Given the description of an element on the screen output the (x, y) to click on. 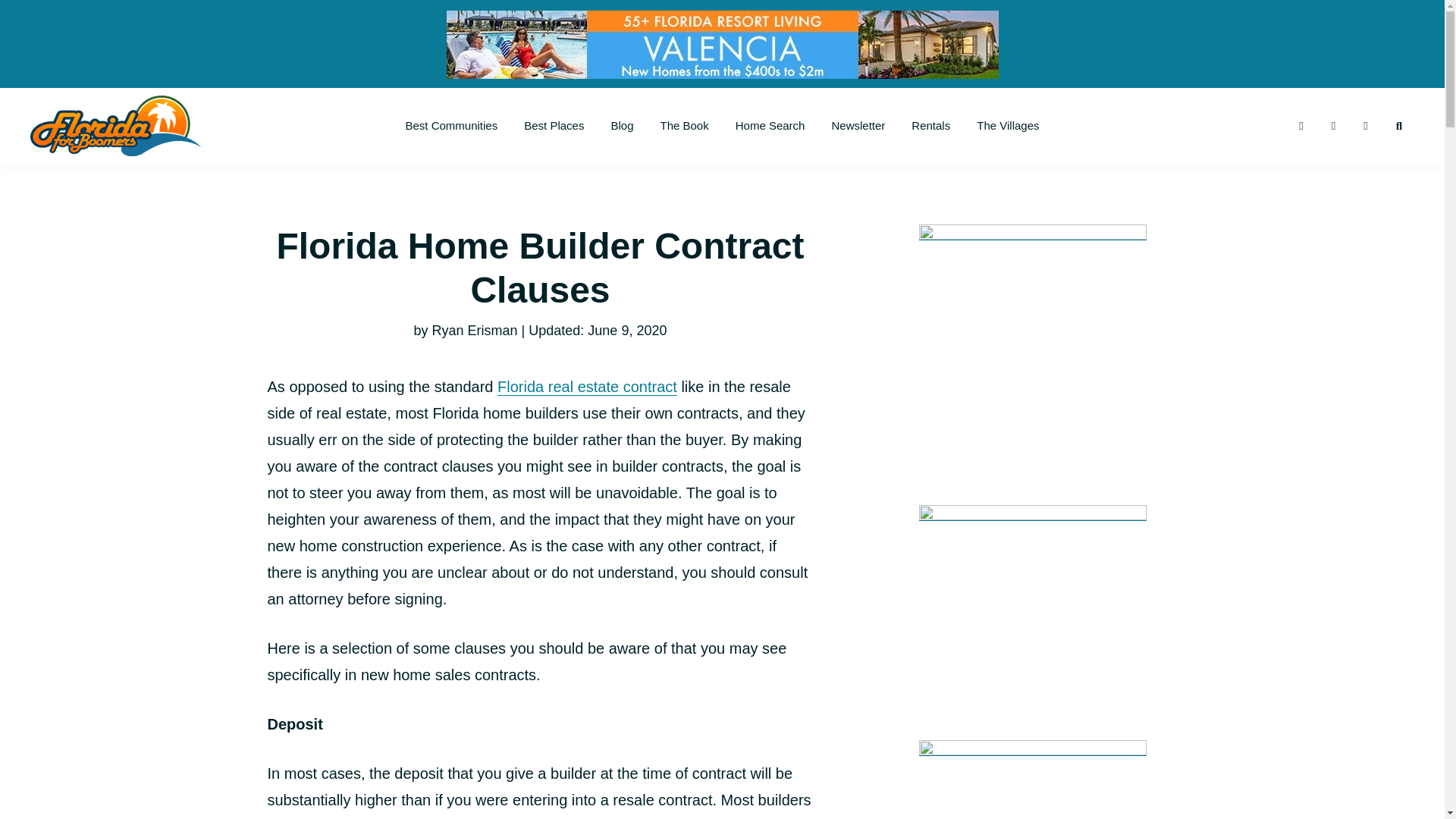
Rentals (929, 125)
Home Search (769, 125)
The Book (684, 125)
Blog (621, 125)
The Villages (1007, 125)
Best Places (553, 125)
Newsletter (857, 125)
Florida real estate contract (587, 386)
Best Communities (450, 125)
